Given the description of an element on the screen output the (x, y) to click on. 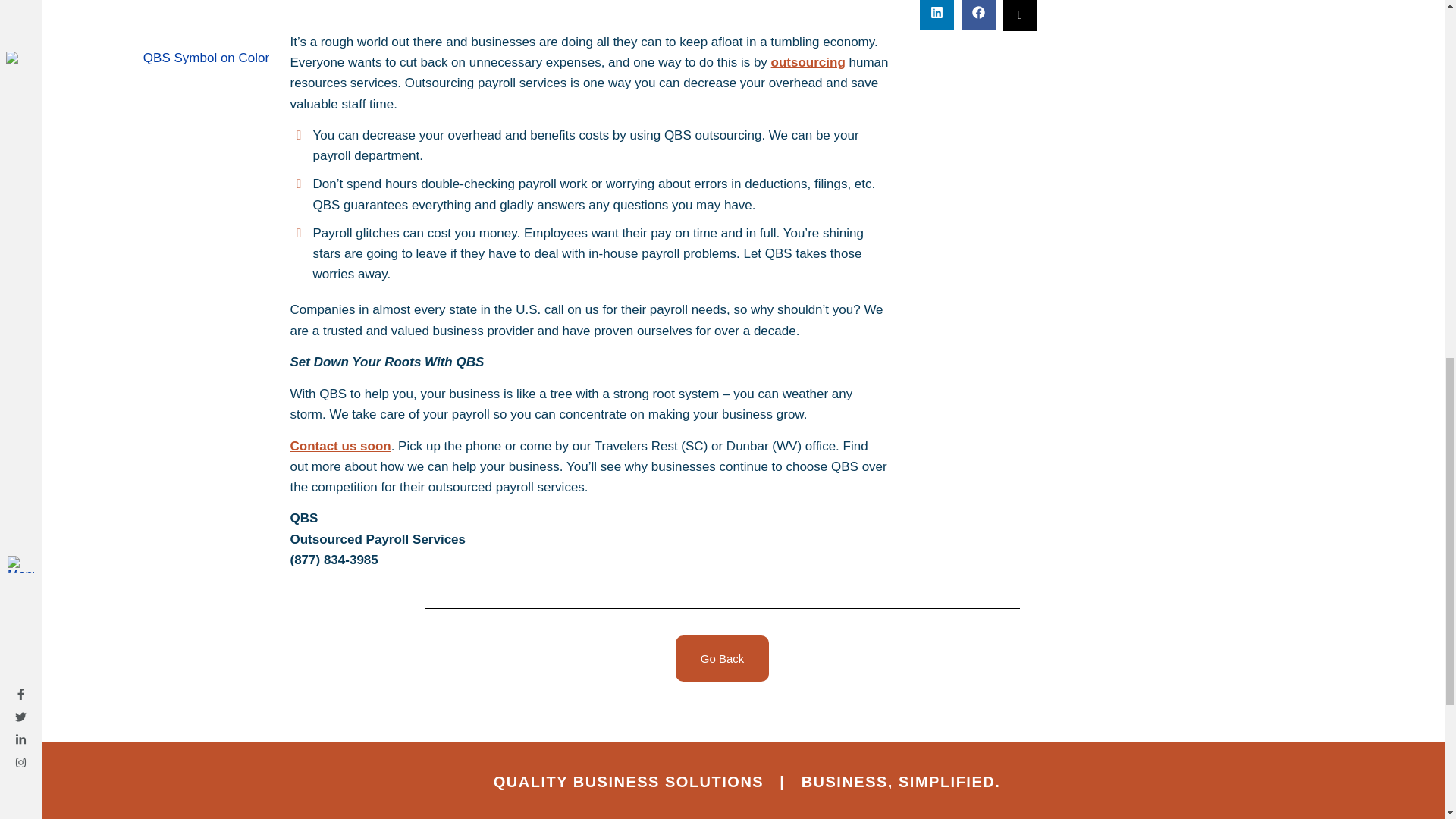
Go Back (722, 658)
Contact us soon (339, 445)
outsourcing (808, 62)
